Given the description of an element on the screen output the (x, y) to click on. 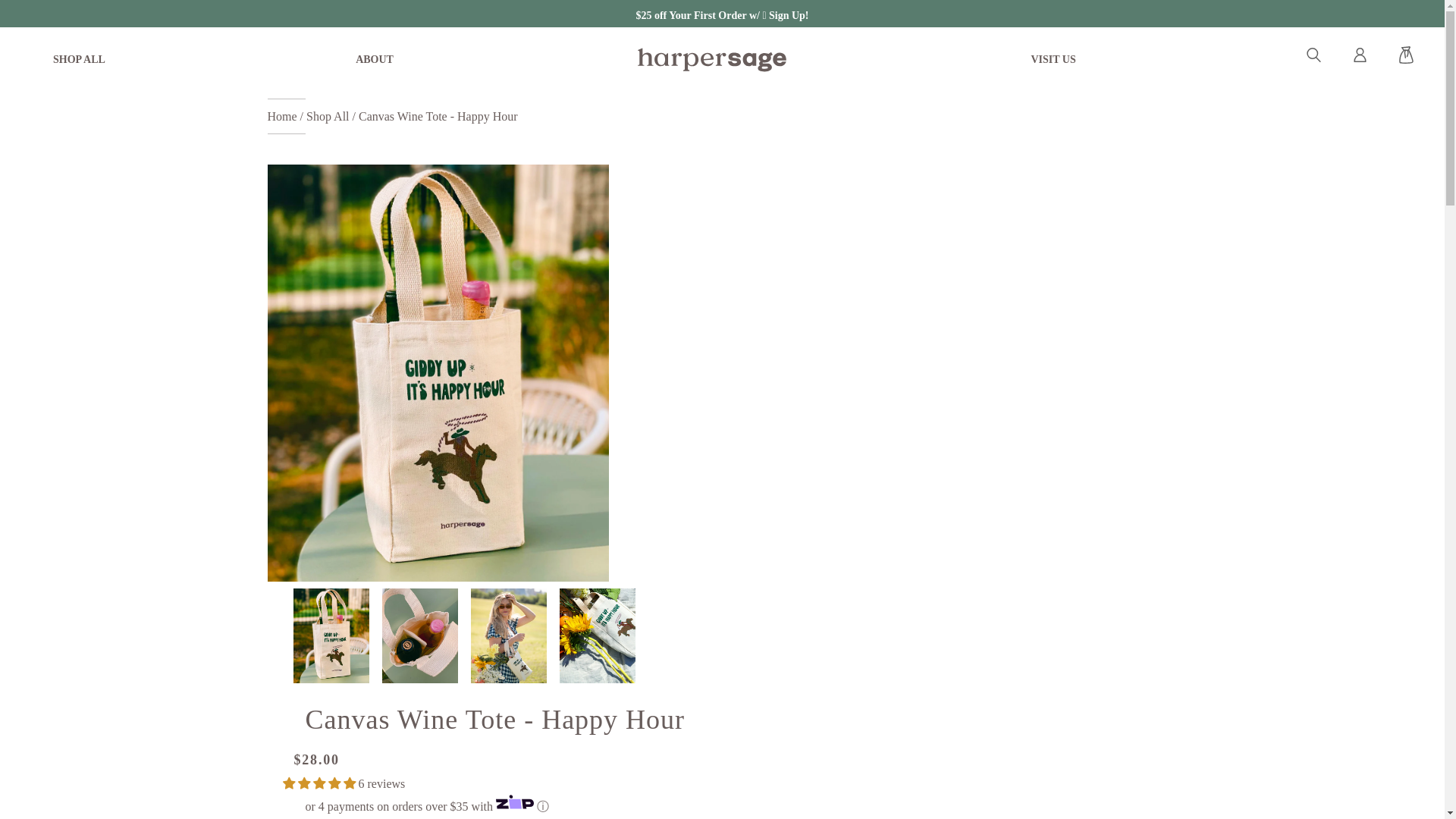
VISIT US (1053, 59)
VISIT US (1053, 59)
ABOUT (374, 59)
SHOP ALL (79, 59)
Home (282, 115)
ABOUT (374, 59)
Shop All (327, 115)
SHOP ALL (79, 59)
